Given the description of an element on the screen output the (x, y) to click on. 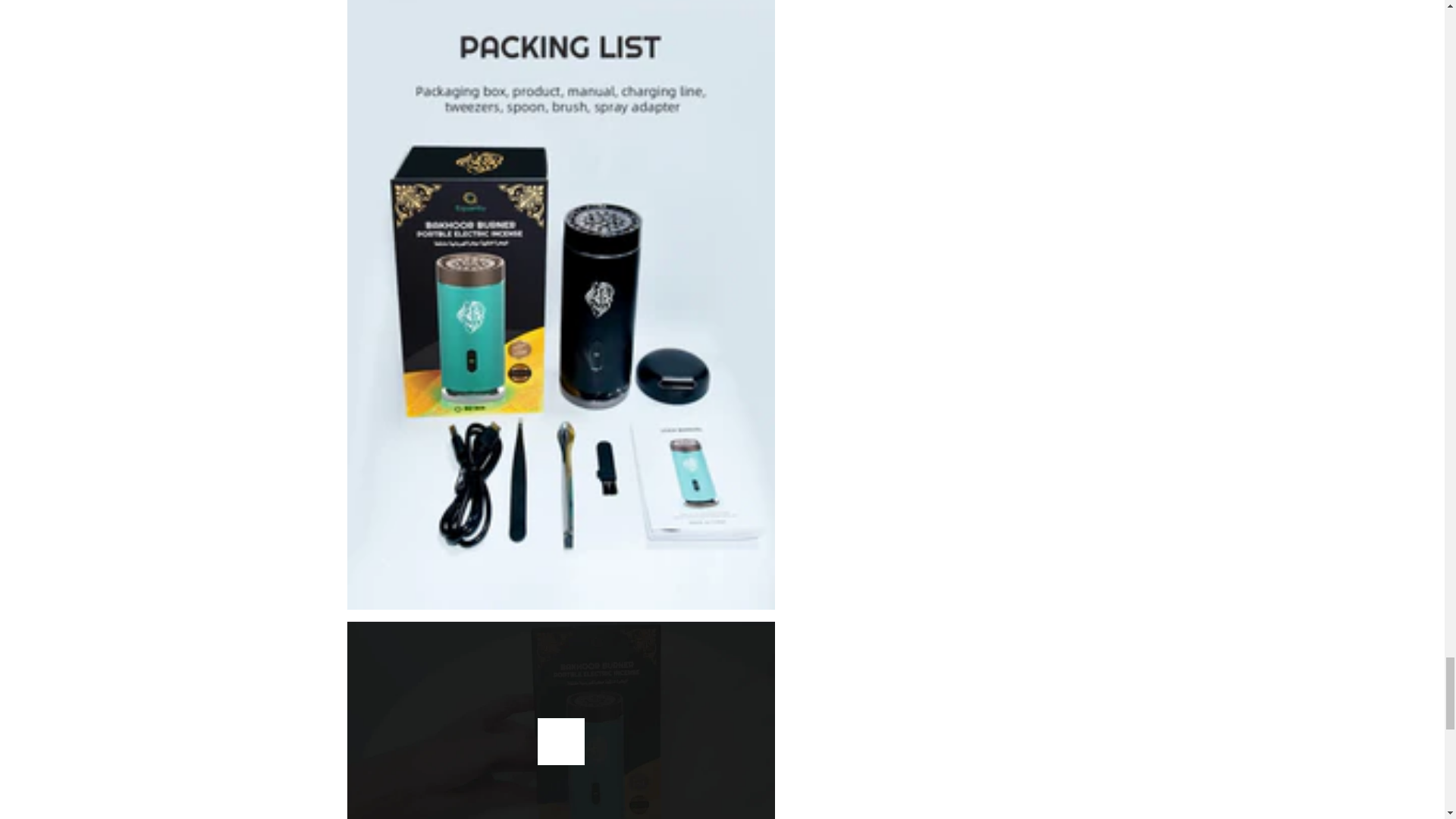
Play (561, 741)
